Given the description of an element on the screen output the (x, y) to click on. 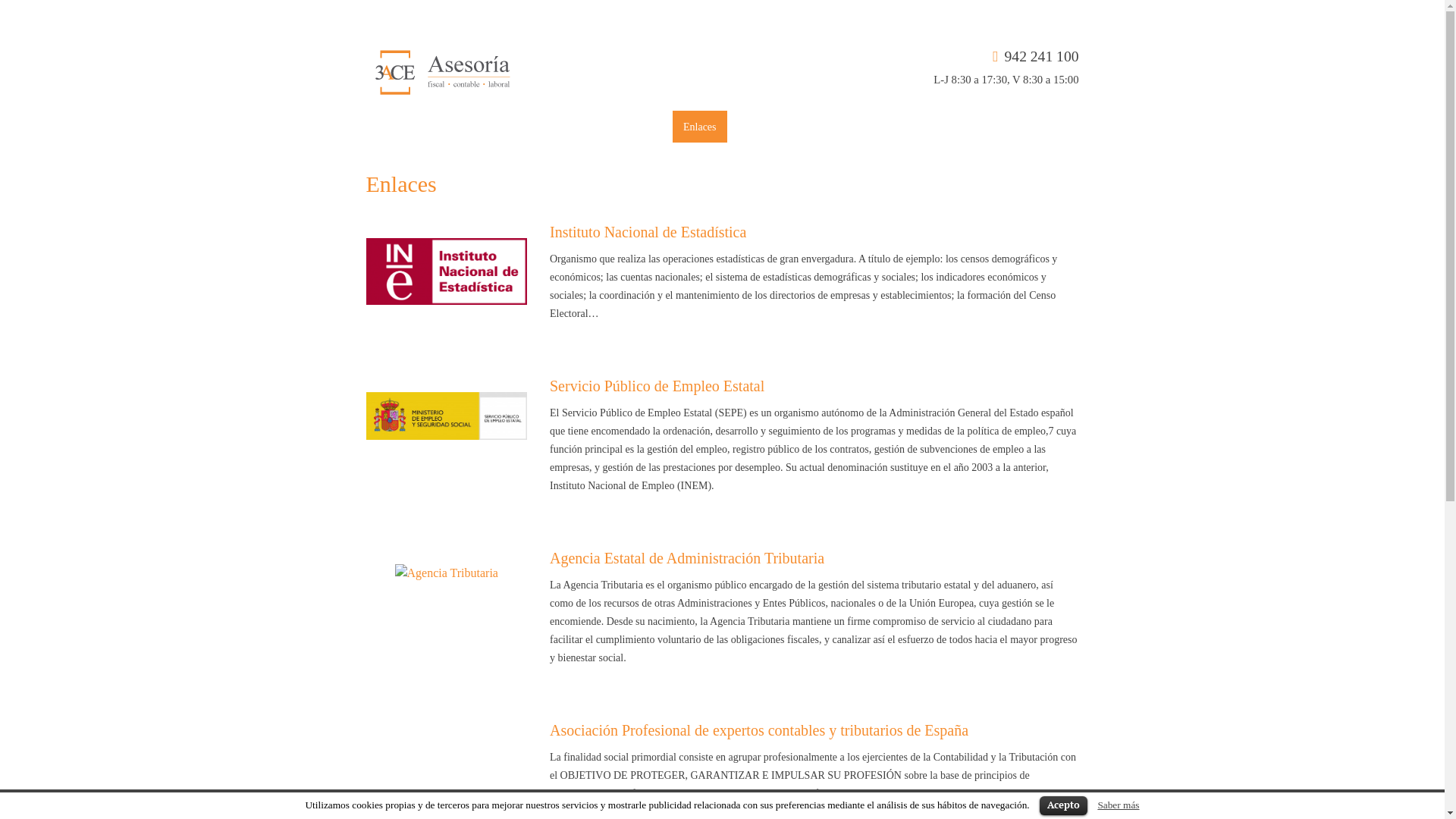
Servicios Financieros para Mayores de 65 Element type: text (885, 126)
Quienes somos Element type: text (424, 126)
Servicios Element type: text (497, 126)
Presupuestos Element type: text (565, 126)
Enlaces Element type: text (699, 126)
Contacto Element type: text (757, 126)
Acepto Element type: text (1063, 805)
Actualidad Element type: text (638, 126)
Inicio Element type: text (358, 126)
